Given the description of an element on the screen output the (x, y) to click on. 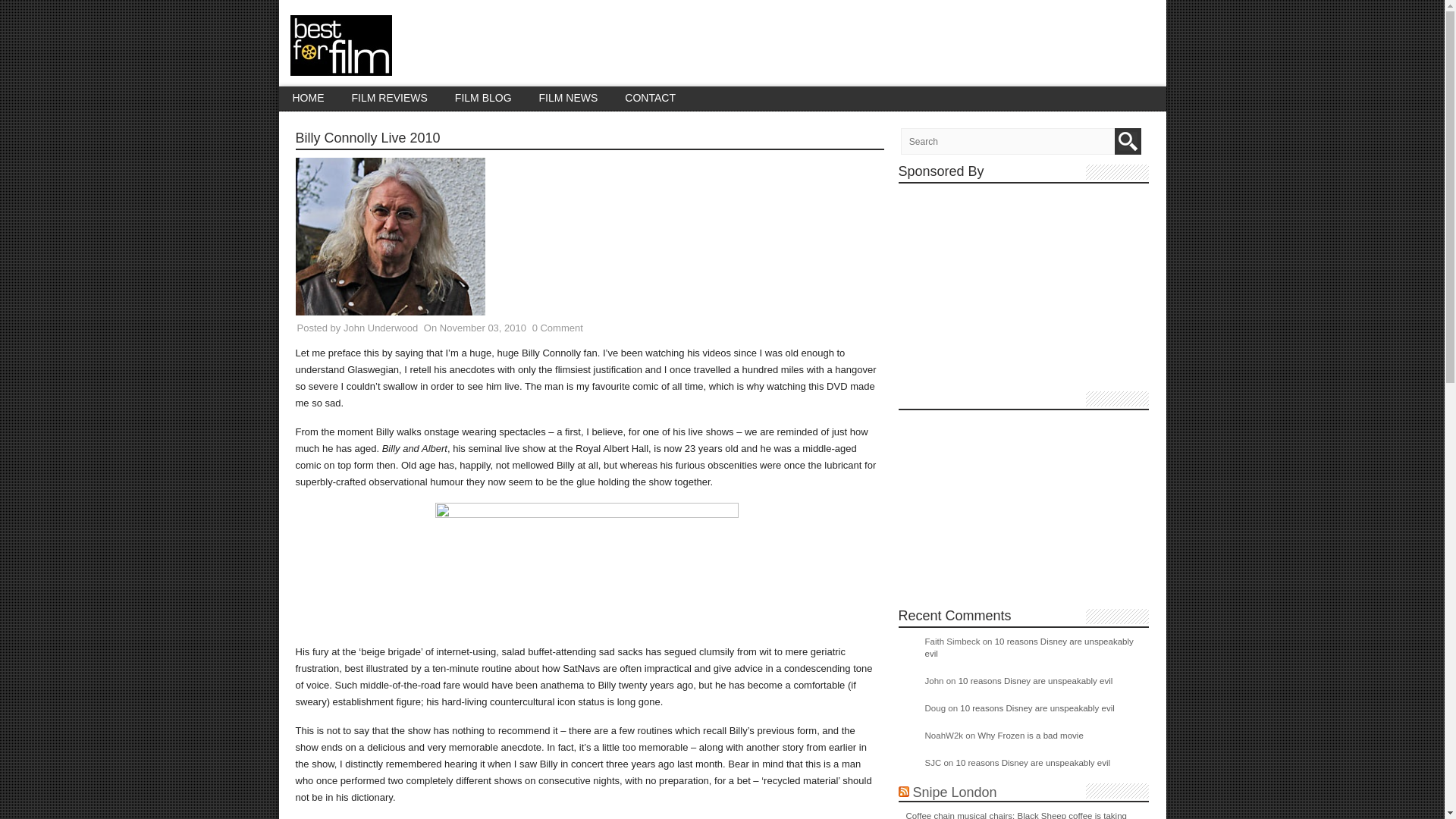
Search (1128, 140)
CONTACT (649, 97)
FILM BLOG (483, 97)
Best For Film (340, 67)
FILM REVIEWS (389, 97)
FILM NEWS (568, 97)
HOME (308, 97)
Billy Connolly in 1975 and more recently (586, 566)
John Underwood (380, 327)
Posts by John Underwood (380, 327)
0 Comment (557, 327)
